Given the description of an element on the screen output the (x, y) to click on. 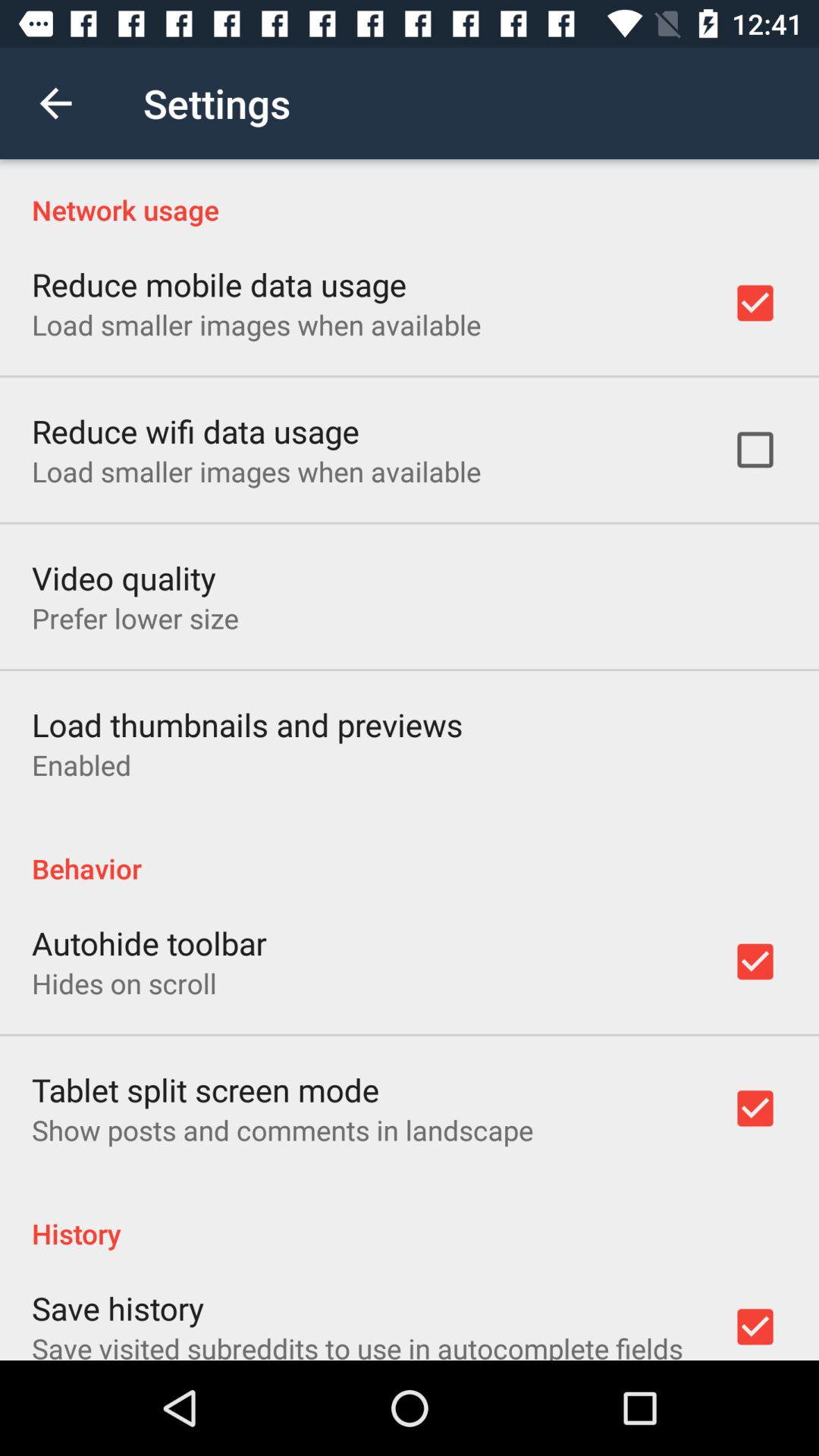
click the icon below the save history (357, 1344)
